Given the description of an element on the screen output the (x, y) to click on. 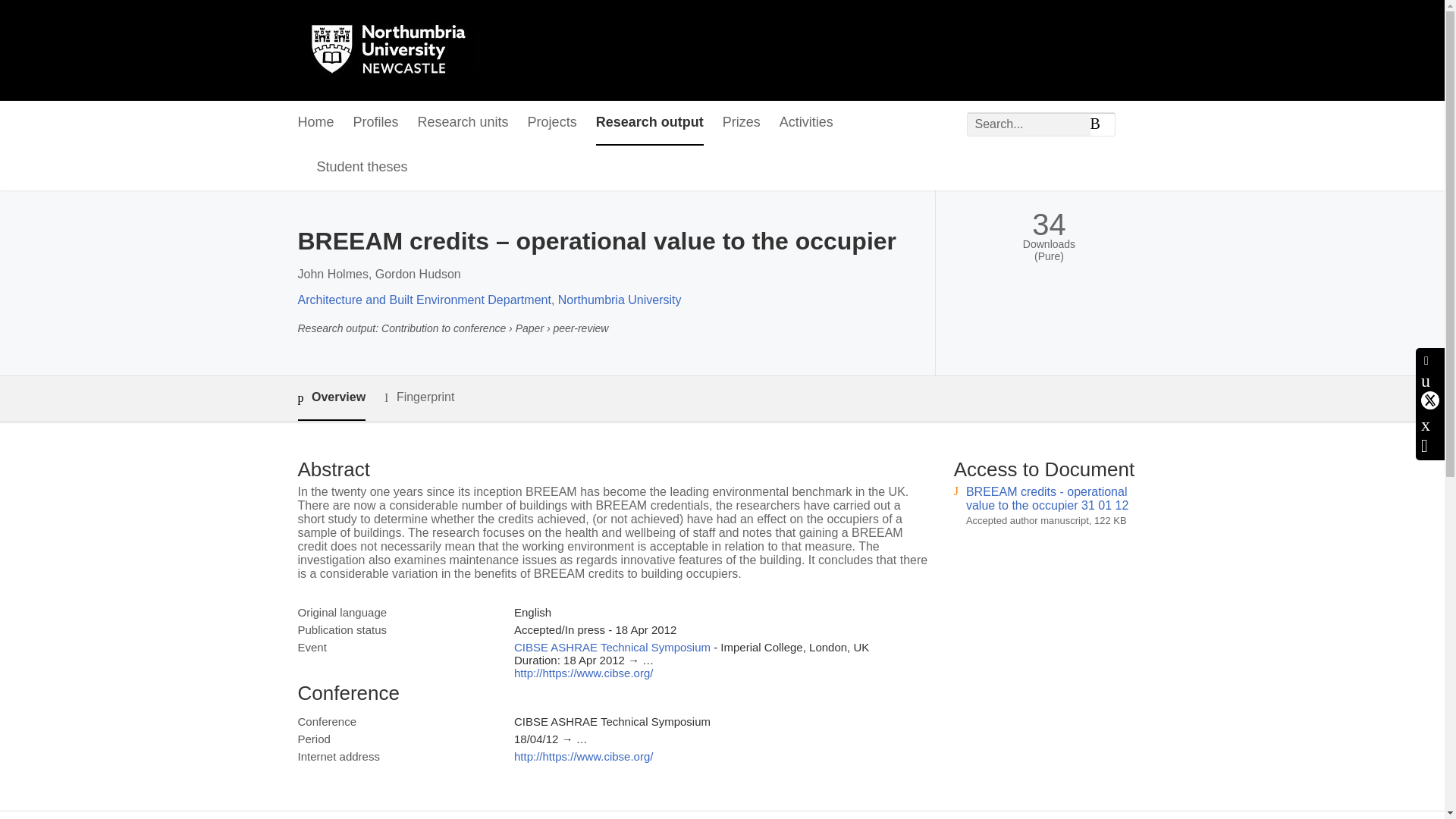
Overview (331, 397)
Northumbria University (619, 299)
Research output (649, 122)
BREEAM credits - operational value to the occupier 31 01 12 (1047, 498)
Activities (805, 122)
Northumbria University Research Portal Home (398, 50)
CIBSE ASHRAE Technical Symposium (611, 646)
Fingerprint (419, 397)
Research units (462, 122)
Student theses (362, 167)
Projects (551, 122)
Architecture and Built Environment Department (423, 299)
Profiles (375, 122)
